Given the description of an element on the screen output the (x, y) to click on. 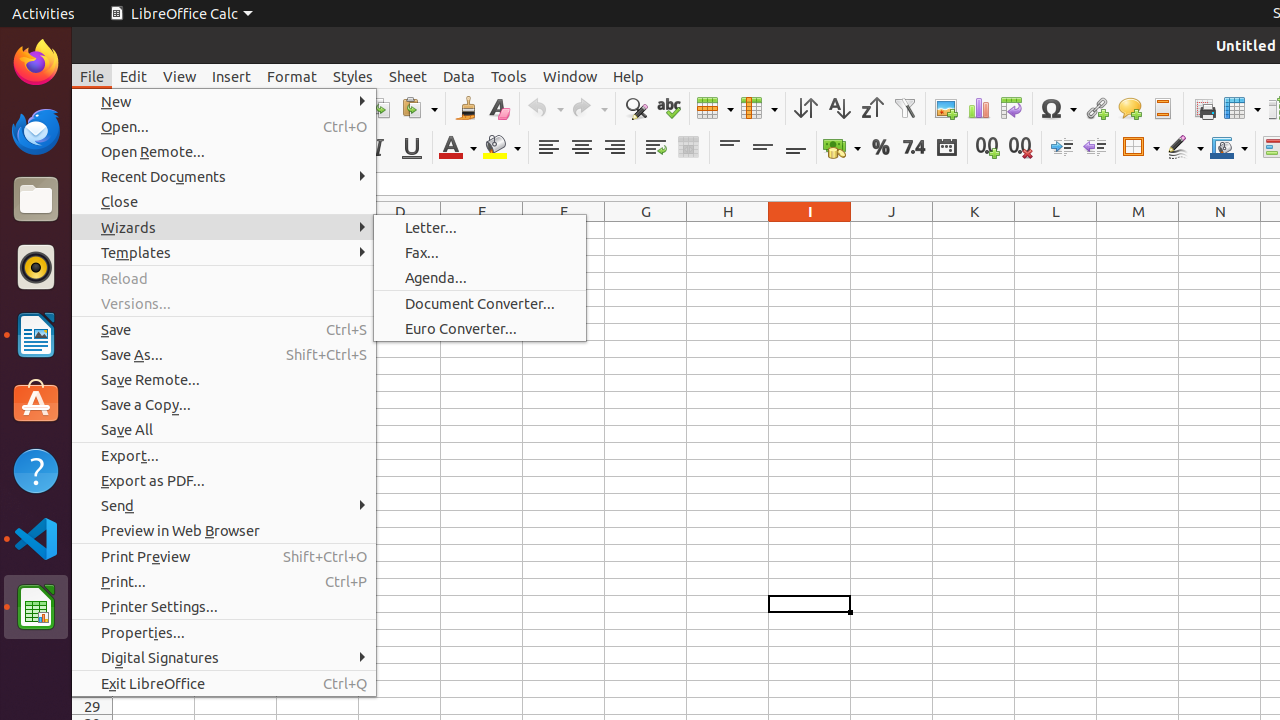
Edit Element type: menu (133, 76)
Send Element type: menu (224, 505)
Delete Decimal Place Element type: push-button (1020, 147)
Properties... Element type: menu-item (224, 632)
Print... Element type: menu-item (224, 581)
